Given the description of an element on the screen output the (x, y) to click on. 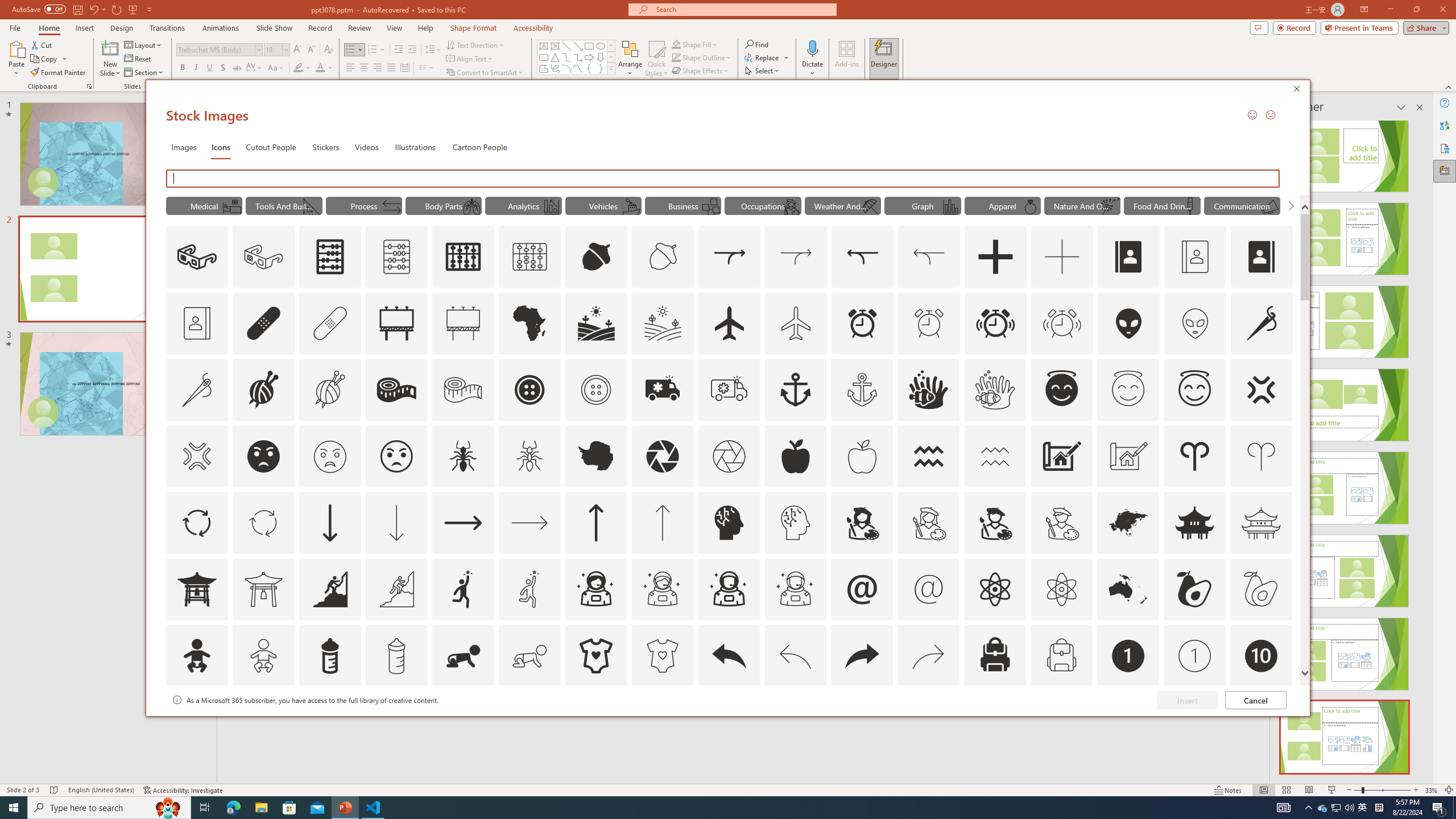
AutomationID: Icons_BabyCrawling_M (529, 655)
AutomationID: Icons_AddressBook_LTR_M (1194, 256)
"Graph" Icons. (921, 205)
AutomationID: Icons_Badge10_M (196, 721)
AutomationID: Icons_Aperture_M (729, 455)
AutomationID: Icons_ArrowCircle_M (263, 522)
AutomationID: Icons_ArrowRight_M (529, 522)
